Given the description of an element on the screen output the (x, y) to click on. 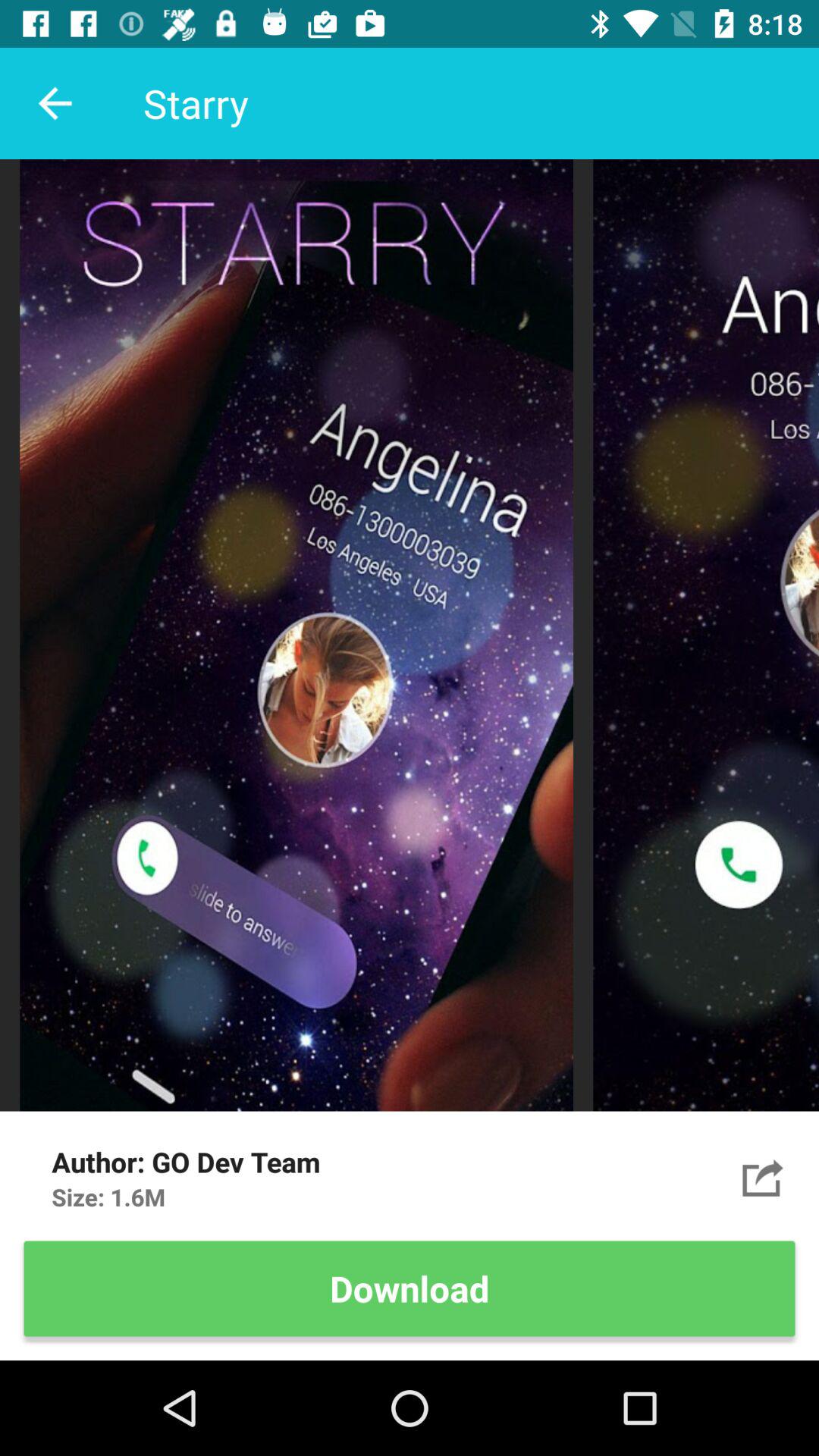
go forward (763, 1177)
